Given the description of an element on the screen output the (x, y) to click on. 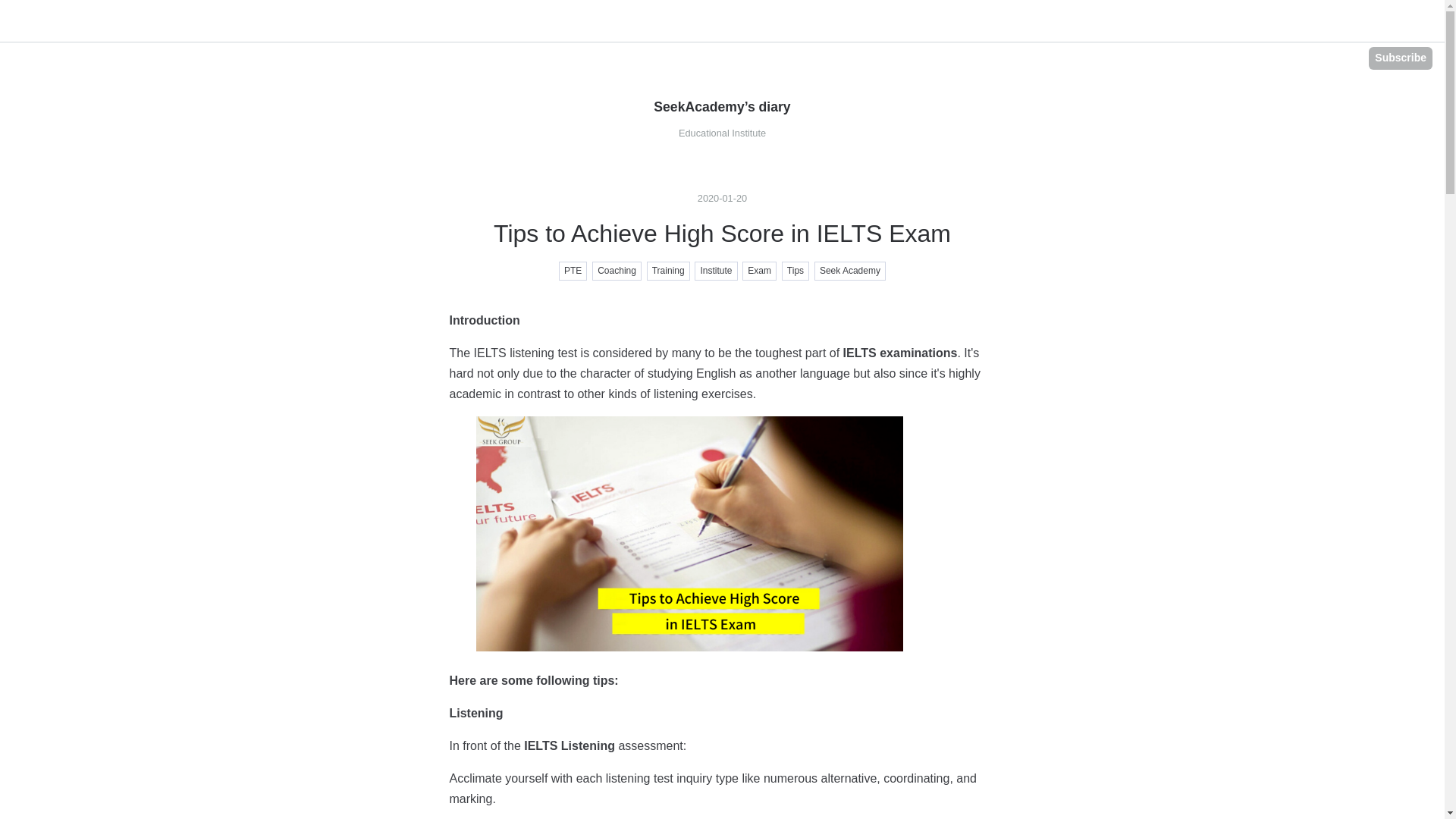
Seek Academy (849, 270)
f:id:amitkumar3210:20200120175118p:plain (689, 533)
Coaching (617, 270)
2020-01-20T08:58:52Z (721, 197)
PTE (572, 270)
Subscribe (1400, 57)
Tips (795, 270)
2020-01-20 (721, 197)
Institute (715, 270)
Tips to Achieve High Score in IELTS Exam (721, 233)
Training (668, 270)
Exam (759, 270)
